Given the description of an element on the screen output the (x, y) to click on. 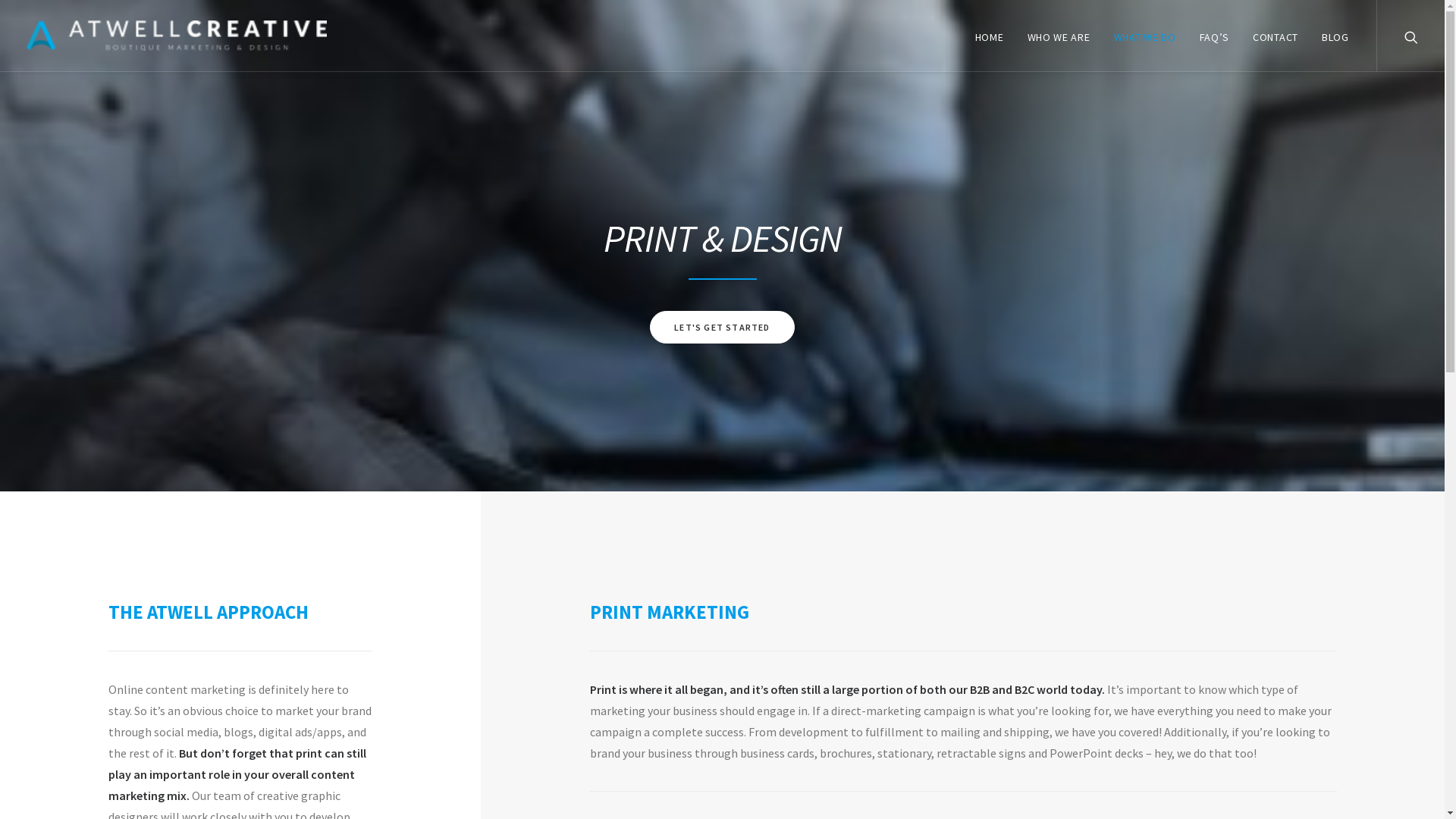
BLOG Element type: text (1330, 35)
CONTACT Element type: text (1275, 35)
HOME Element type: text (989, 35)
WHO WE ARE Element type: text (1058, 35)
WHAT WE DO Element type: text (1144, 35)
LET'S GET STARTED Element type: text (721, 326)
